Given the description of an element on the screen output the (x, y) to click on. 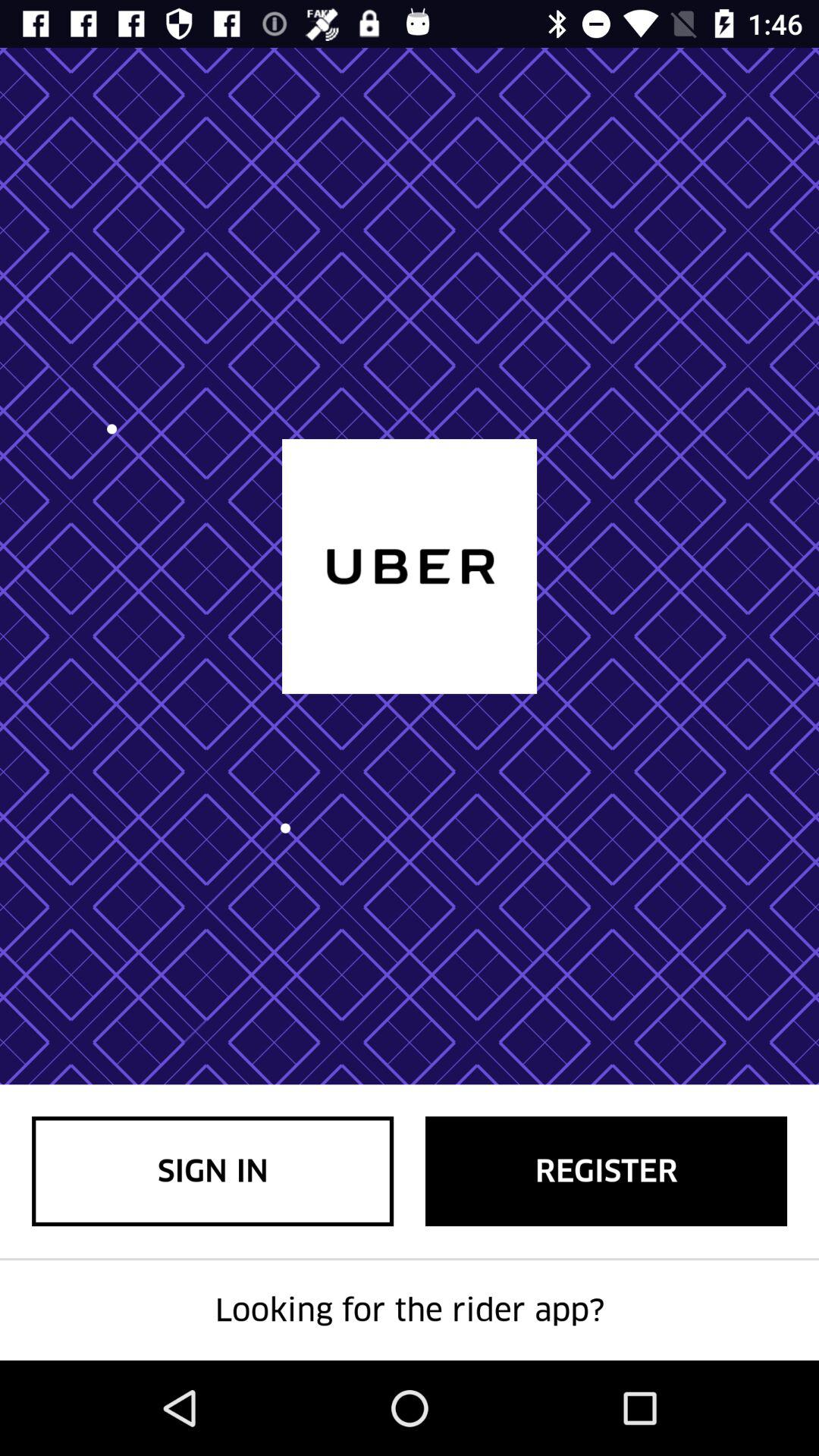
swipe until sign in icon (212, 1171)
